Given the description of an element on the screen output the (x, y) to click on. 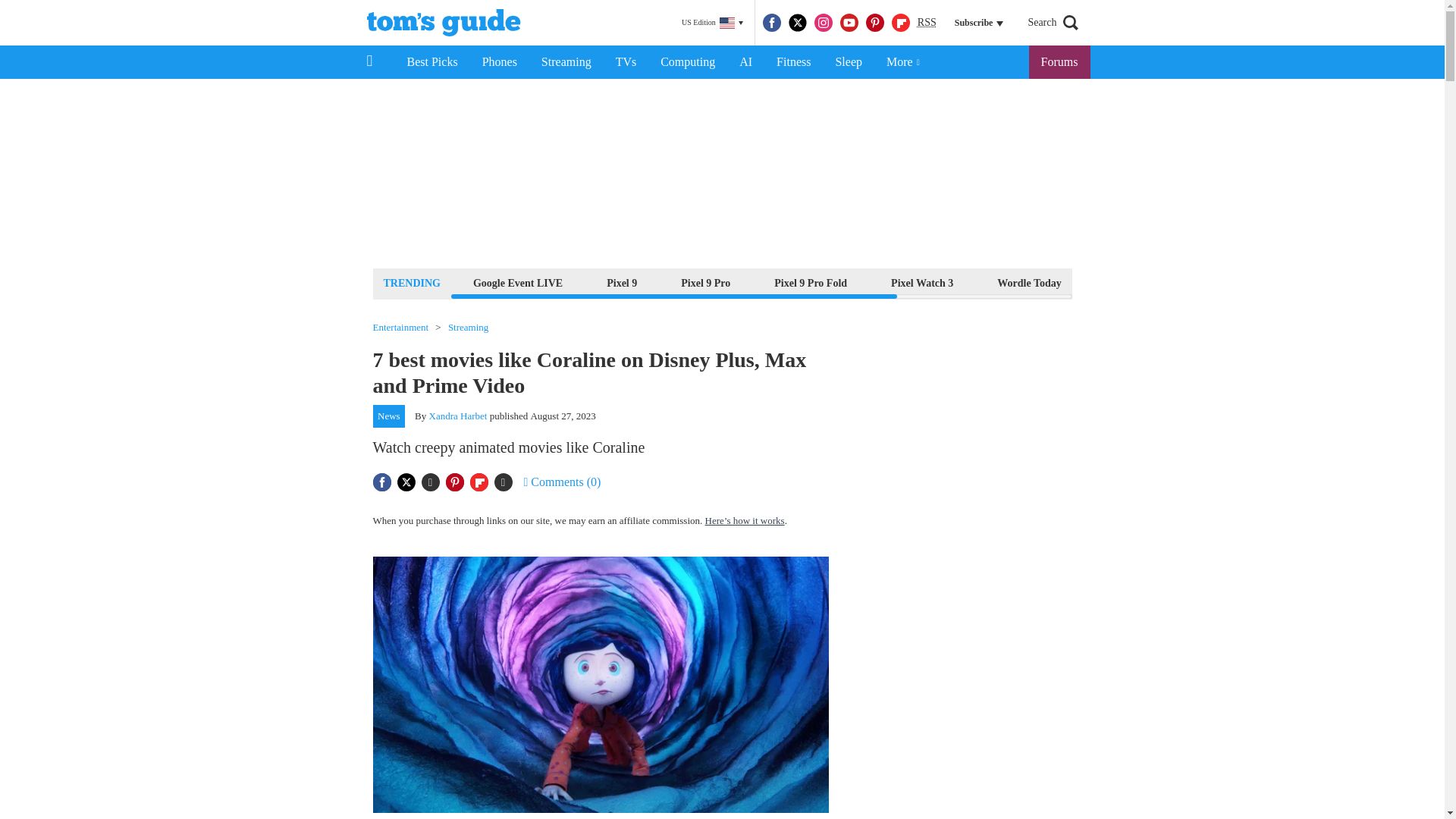
Sleep (848, 61)
RSS (926, 22)
Really Simple Syndication (926, 21)
Best Picks (431, 61)
TVs (626, 61)
Streaming (566, 61)
AI (745, 61)
Phones (499, 61)
Fitness (793, 61)
Computing (686, 61)
